Given the description of an element on the screen output the (x, y) to click on. 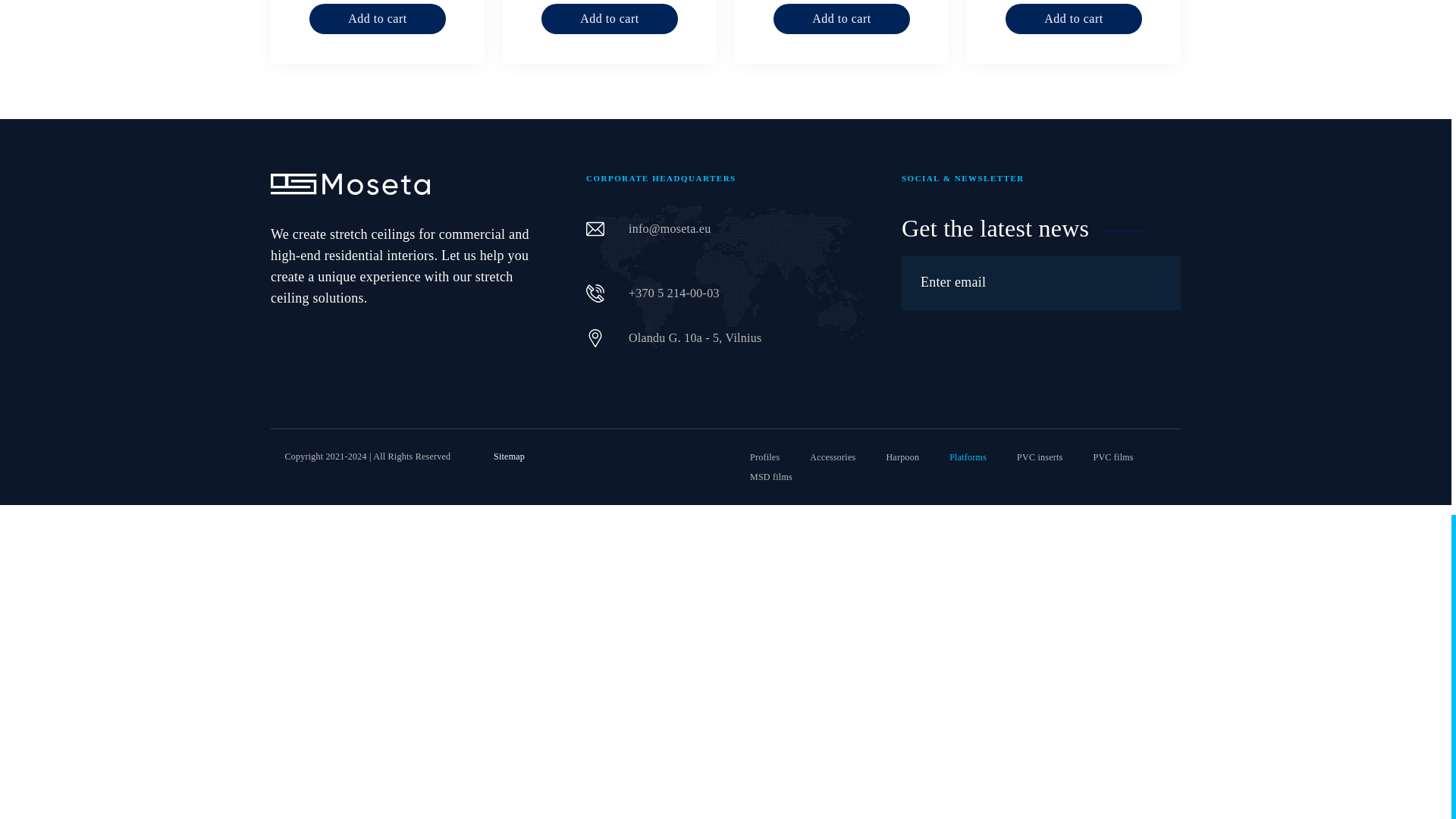
Subscribe (1152, 282)
Moseta (349, 183)
